Given the description of an element on the screen output the (x, y) to click on. 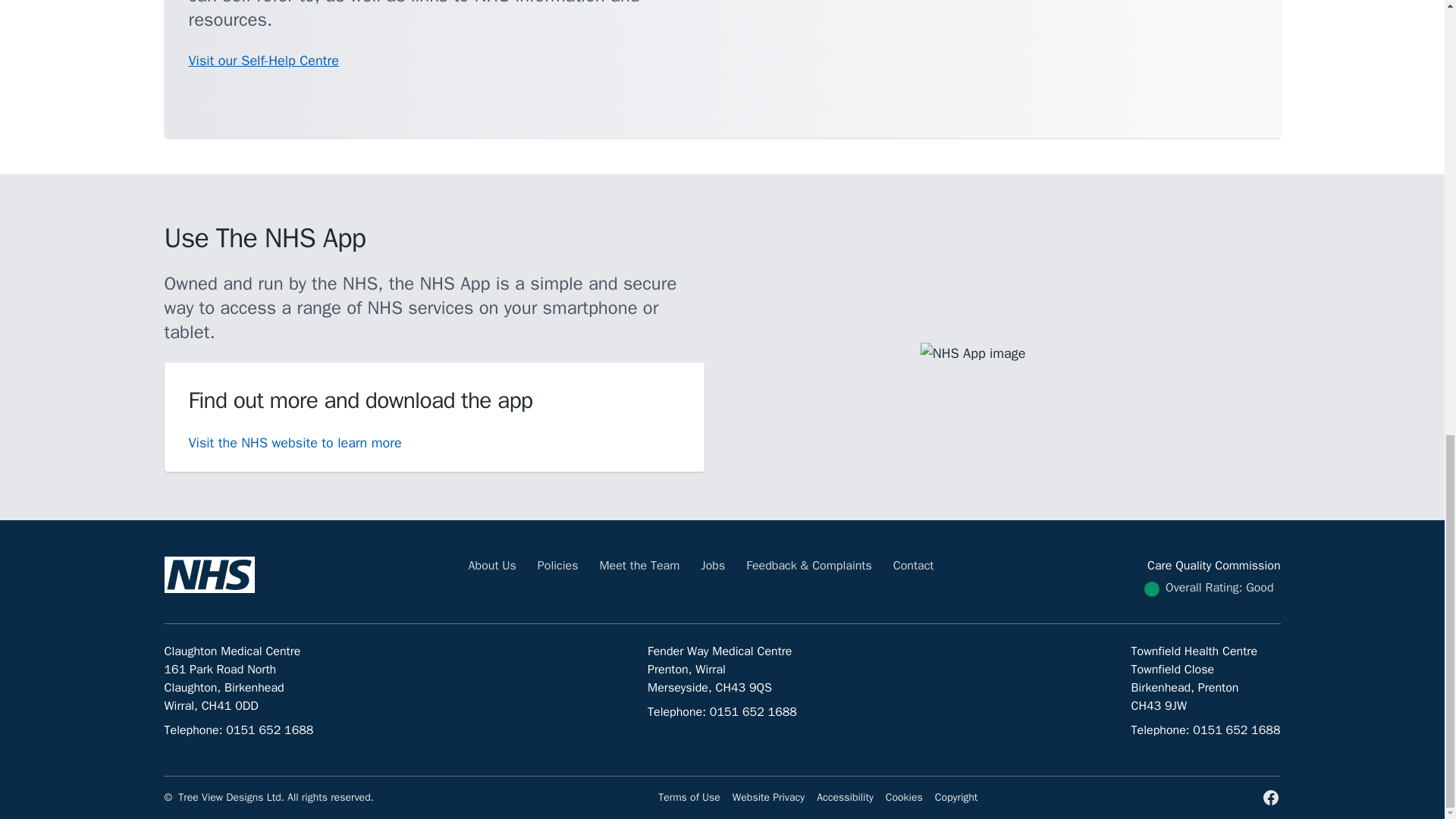
Website Privacy (768, 797)
Visit our Self-Help Centre (262, 60)
0151 652 1688 (269, 729)
0151 652 1688 (753, 711)
Meet the Team (638, 565)
Jobs (712, 565)
Visit the NHS website to learn more (294, 442)
Facebook (1270, 797)
Tree View Designs Ltd. All rights reserved. (275, 797)
Policies (557, 565)
